Given the description of an element on the screen output the (x, y) to click on. 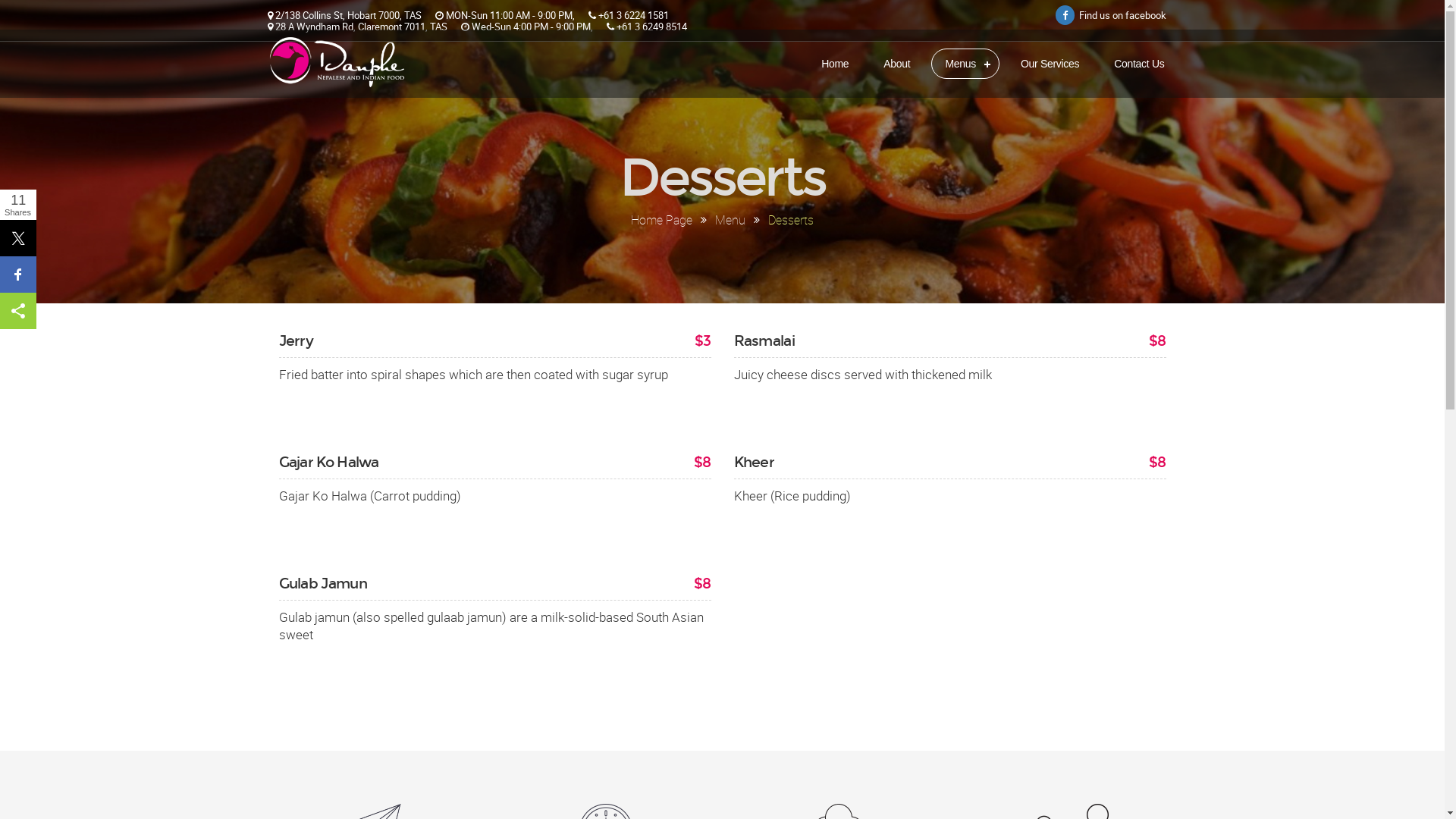
Menus Element type: text (965, 63)
Contact Us Element type: text (1138, 63)
About Element type: text (896, 63)
Menu Element type: text (730, 219)
Our Services Element type: text (1049, 63)
Desserts Element type: text (790, 219)
Home Element type: text (834, 63)
Home Page Element type: text (661, 219)
